Given the description of an element on the screen output the (x, y) to click on. 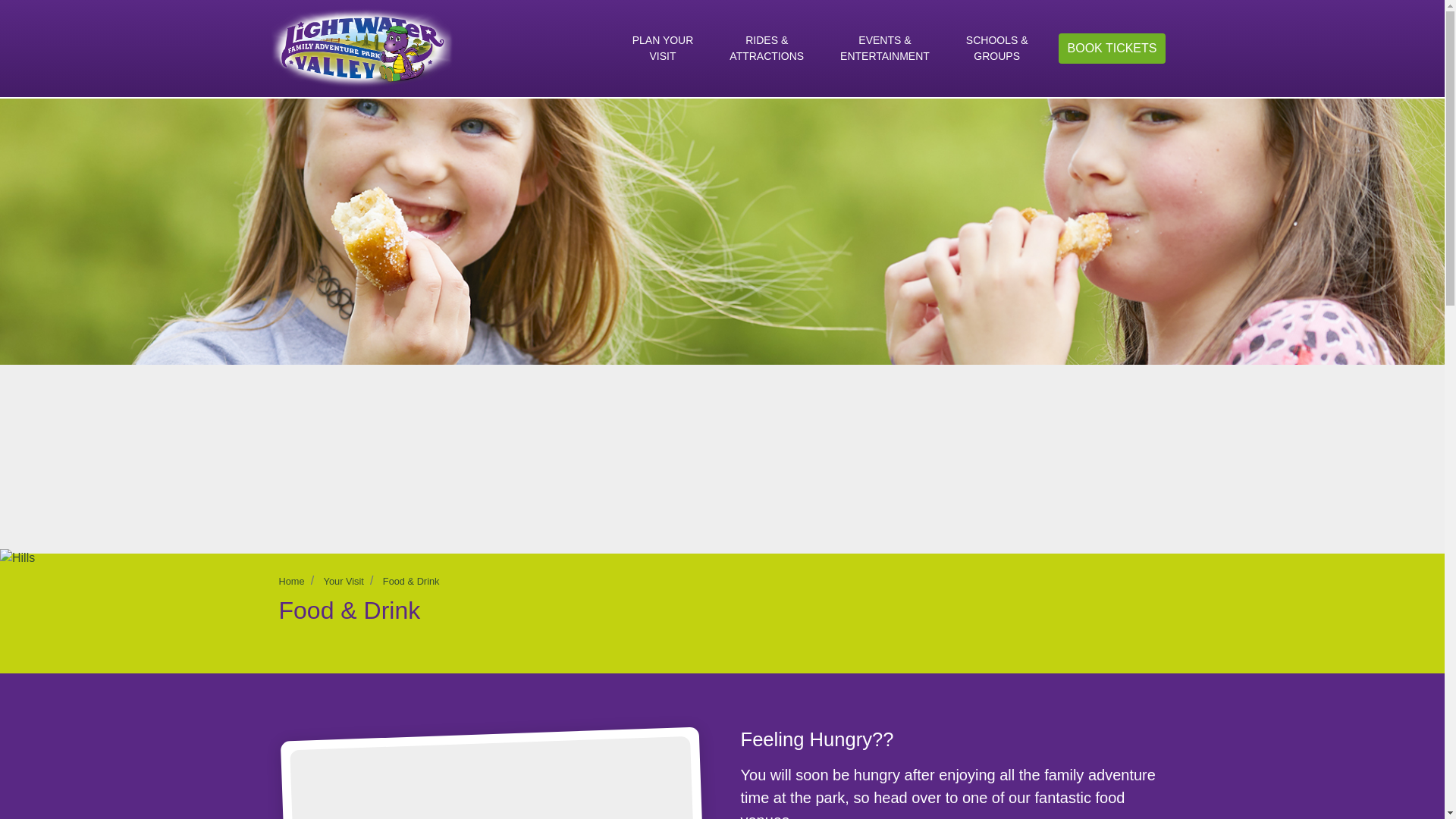
Home (291, 581)
Your Visit (343, 581)
